Given the description of an element on the screen output the (x, y) to click on. 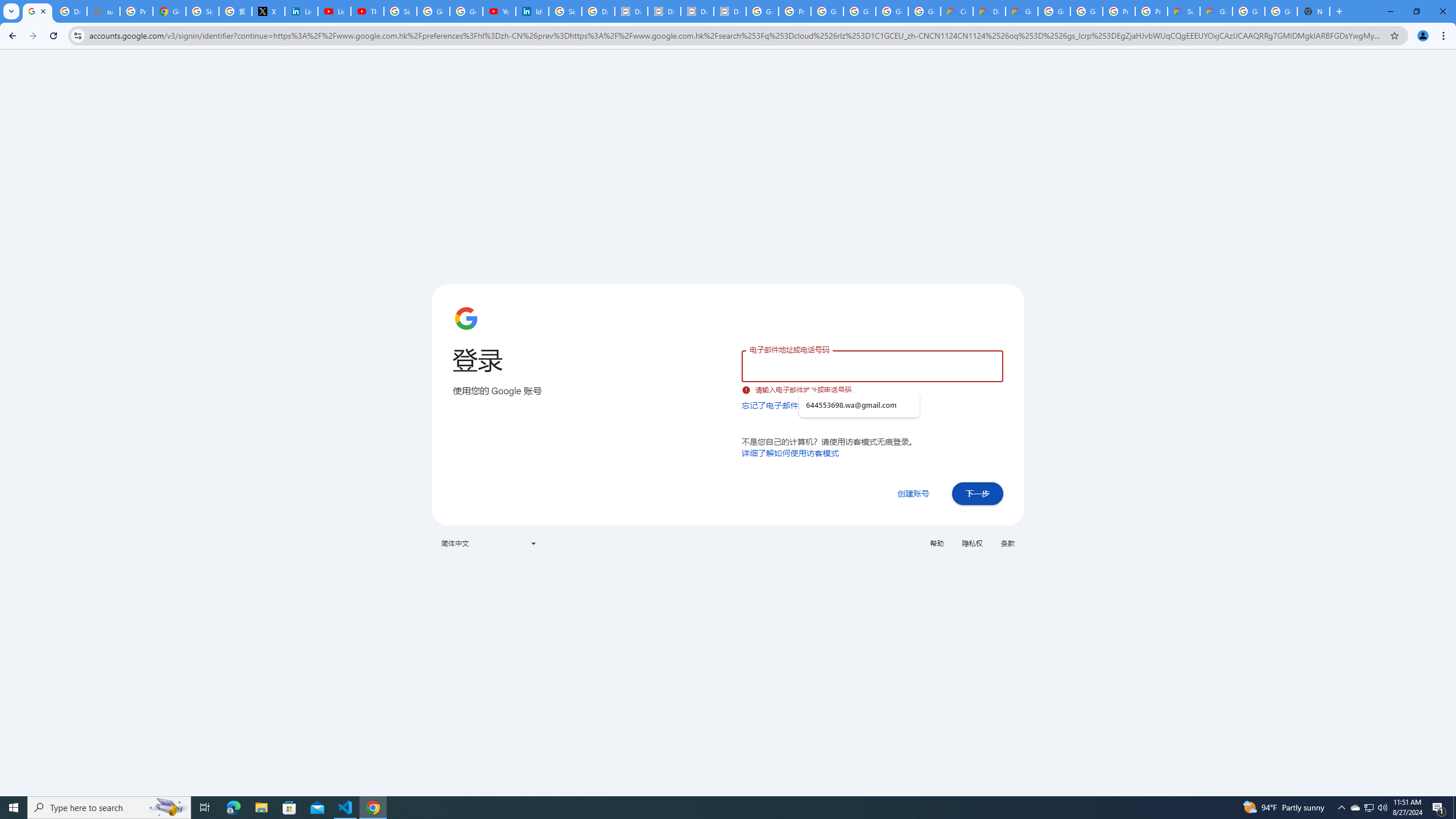
Data Privacy Framework (730, 11)
Data Privacy Framework (697, 11)
Gemini for Business and Developers | Google Cloud (1021, 11)
Google Cloud Platform (1248, 11)
Sign in - Google Accounts (202, 11)
X (268, 11)
